Given the description of an element on the screen output the (x, y) to click on. 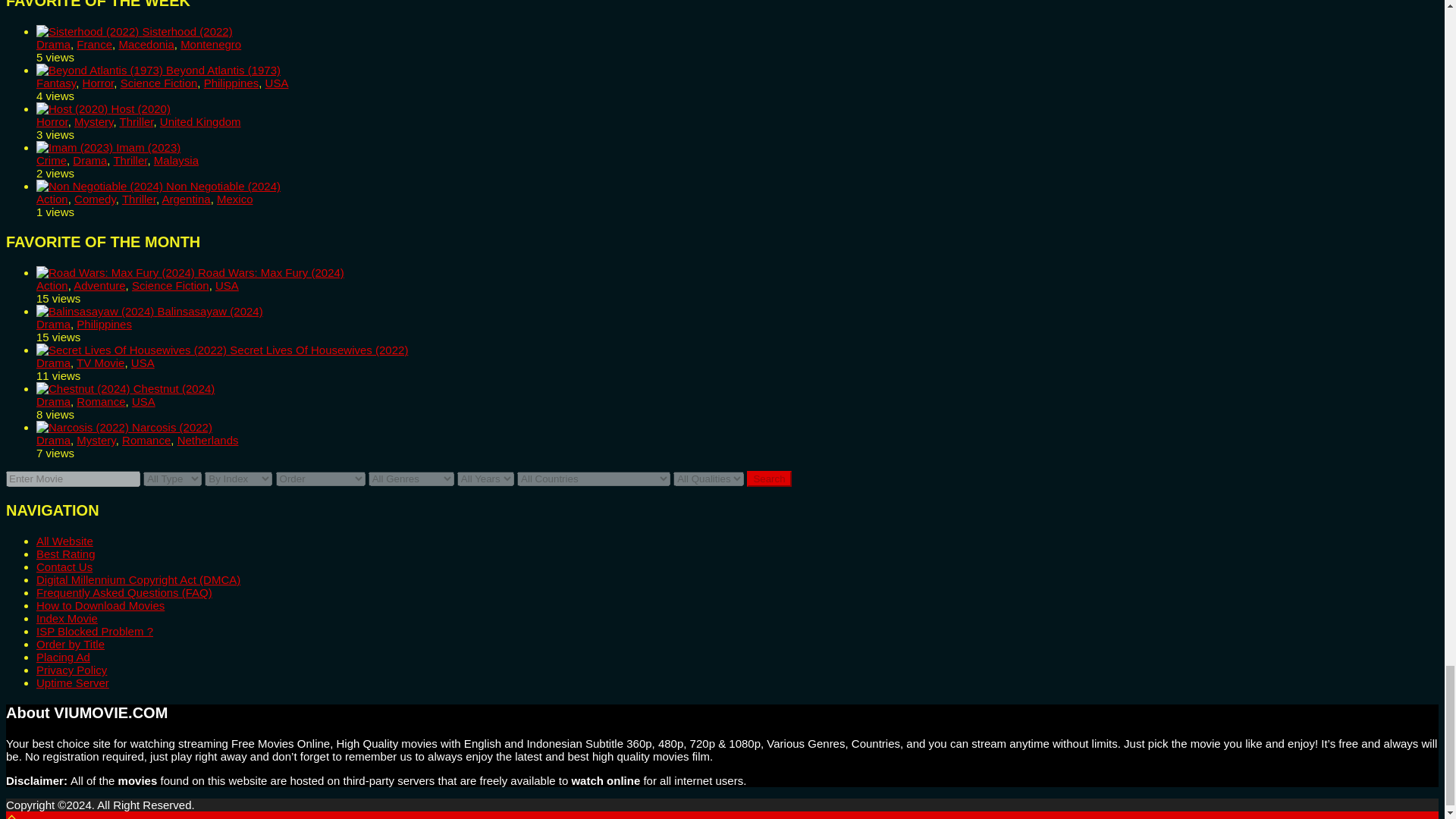
Search (768, 478)
